Given the description of an element on the screen output the (x, y) to click on. 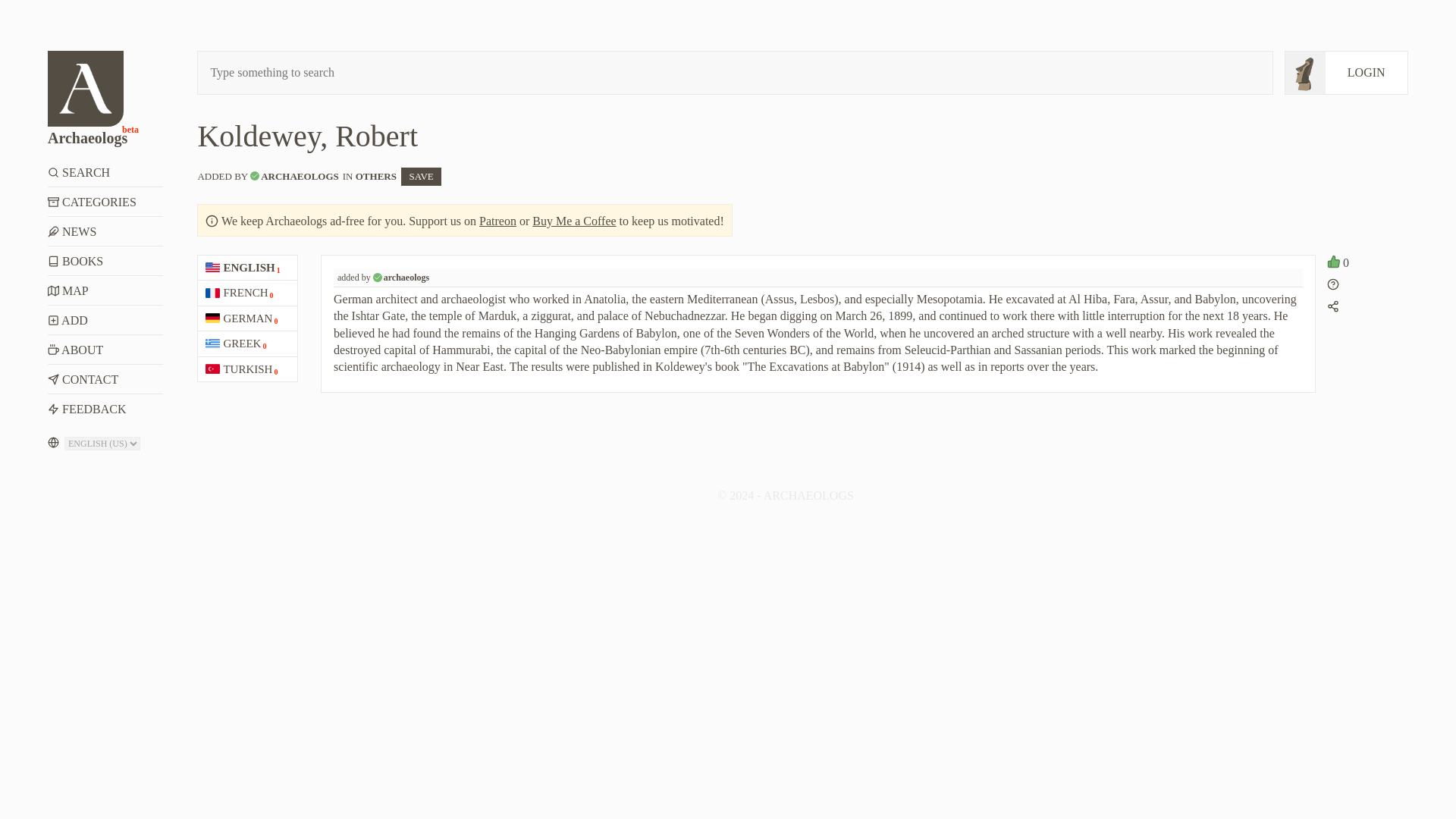
Buy Me a Coffee (573, 220)
archaeologs (406, 276)
TURKISH0 (247, 369)
ENGLISH1 (247, 267)
GERMAN0 (247, 318)
 CONTACT (105, 378)
SAVE (421, 176)
 NEWS (105, 231)
Support Archaeologs on Patreon (497, 220)
FRENCH0 (247, 292)
Approved account (254, 175)
GREEK0 (247, 343)
Support Archaeologs on Buy Me a Coffee (573, 220)
 ADD (105, 319)
 ABOUT (105, 349)
